Given the description of an element on the screen output the (x, y) to click on. 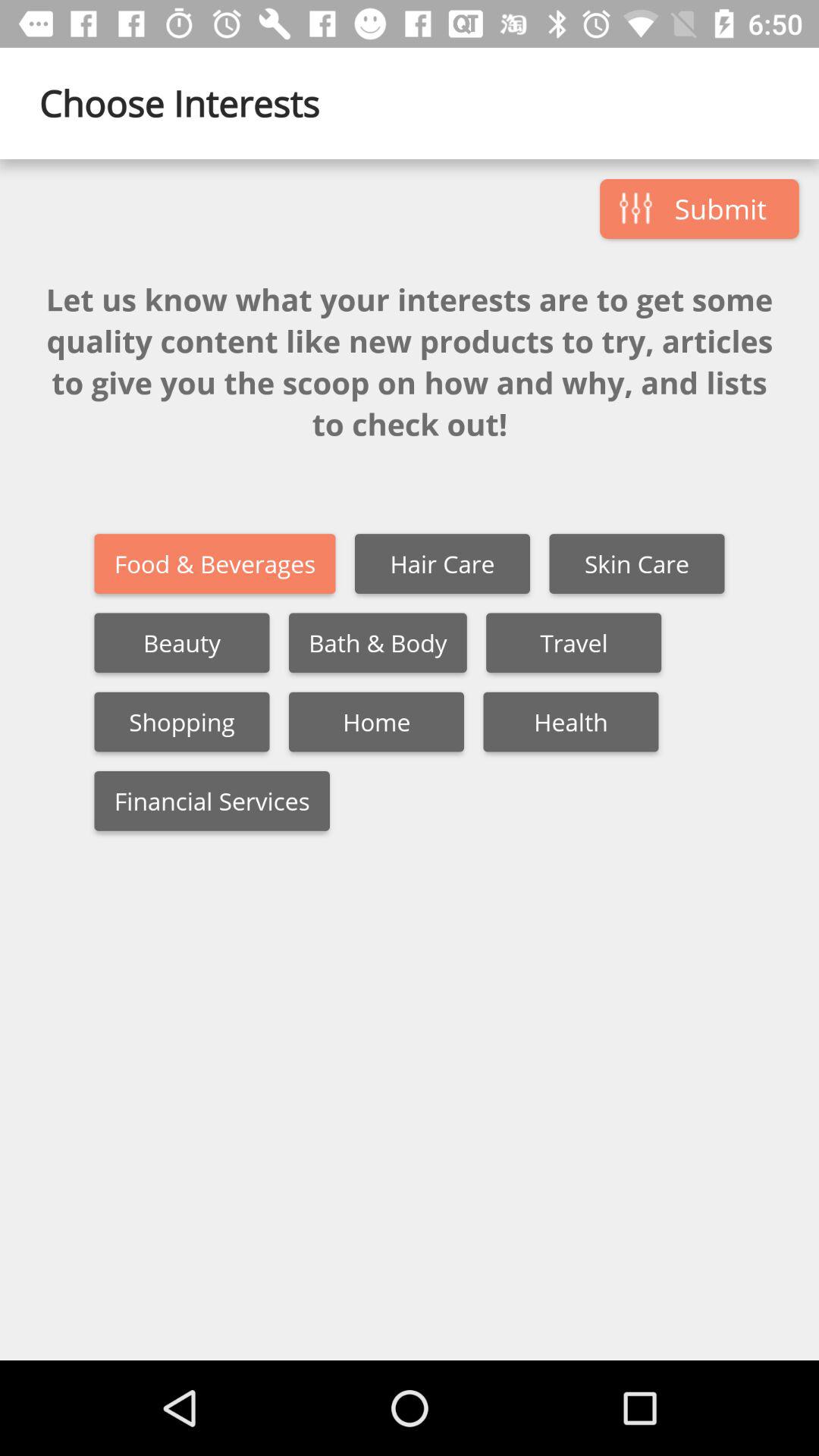
click item above bath & body icon (442, 563)
